Given the description of an element on the screen output the (x, y) to click on. 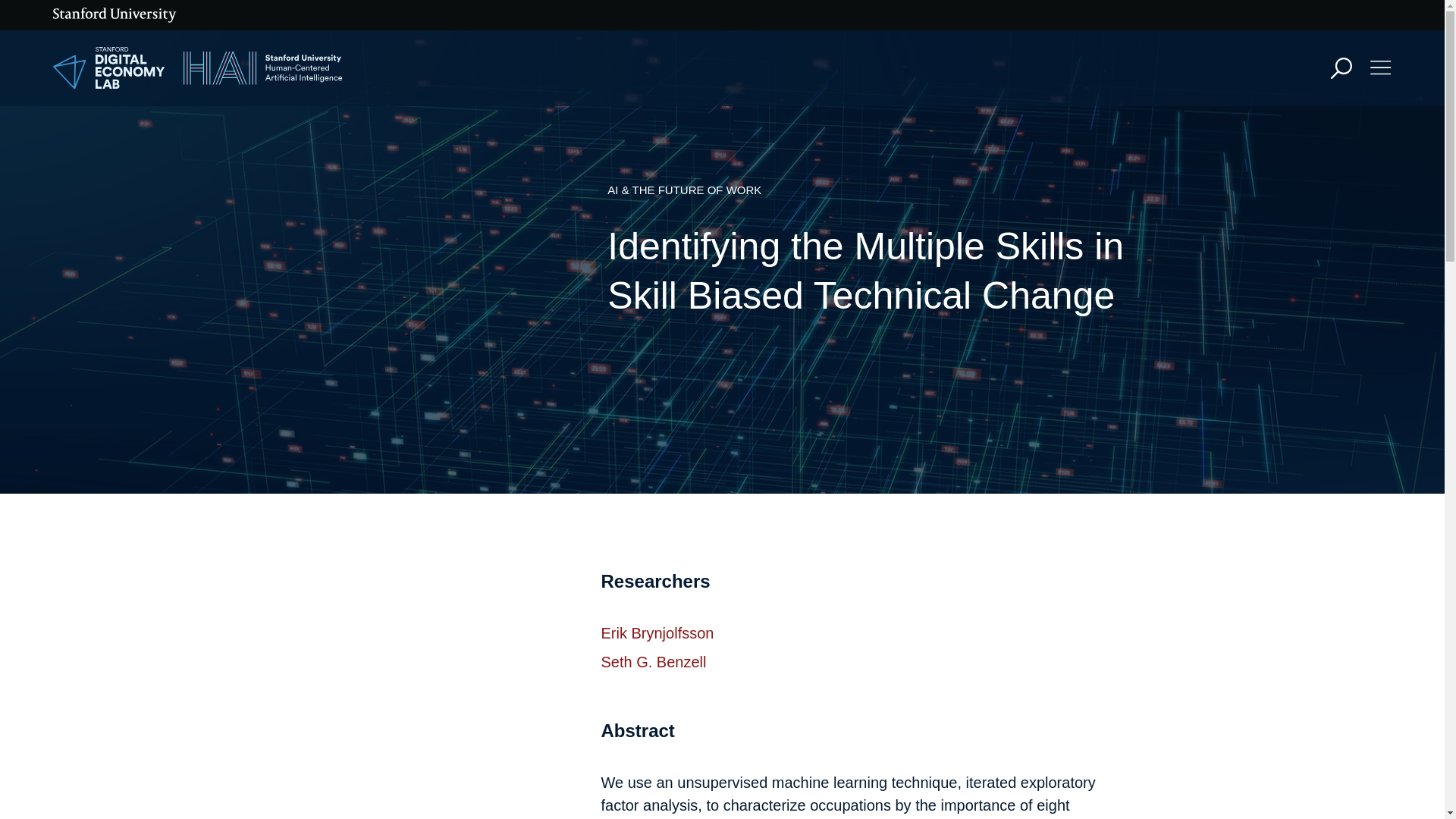
HAI (262, 67)
Digital Economy Lab (108, 67)
Erik Brynjolfsson (656, 632)
Seth G. Benzell (652, 661)
